Given the description of an element on the screen output the (x, y) to click on. 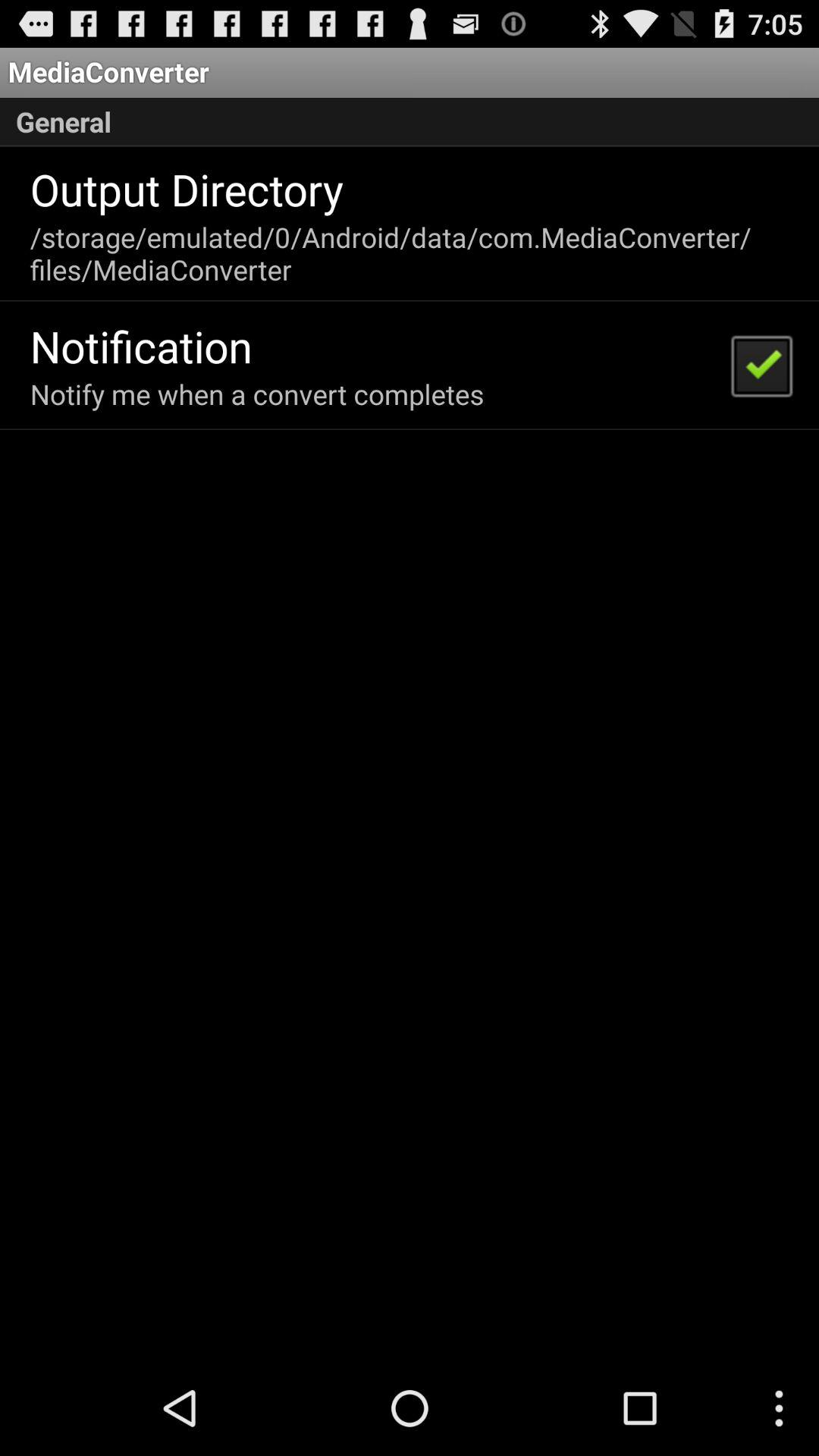
swipe to the notification icon (141, 345)
